Given the description of an element on the screen output the (x, y) to click on. 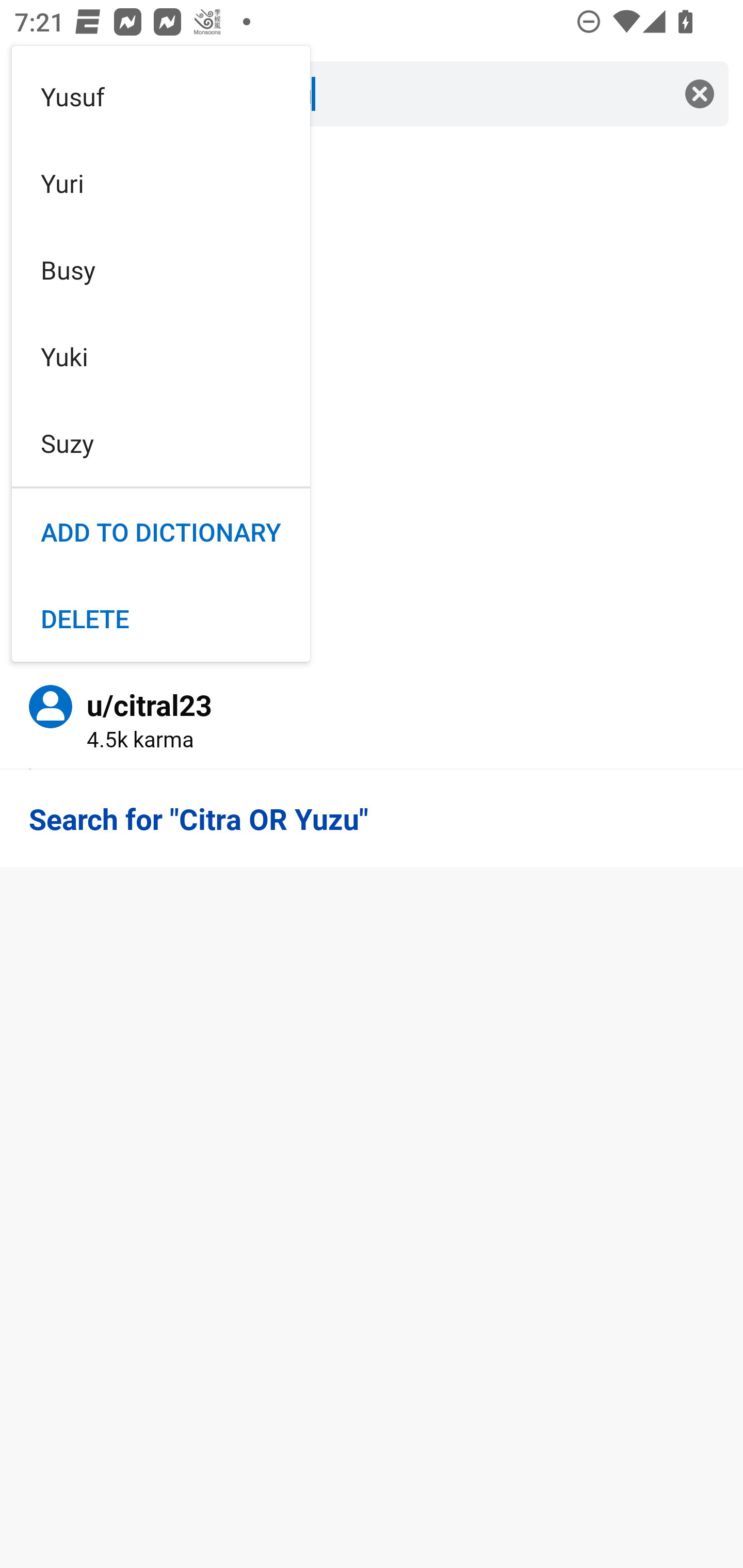
Yusuf (160, 96)
Yuri (160, 182)
Busy (160, 269)
Yuki (160, 356)
Suzy (160, 442)
ADD TO DICTIONARY (160, 532)
DELETE (160, 618)
